Given the description of an element on the screen output the (x, y) to click on. 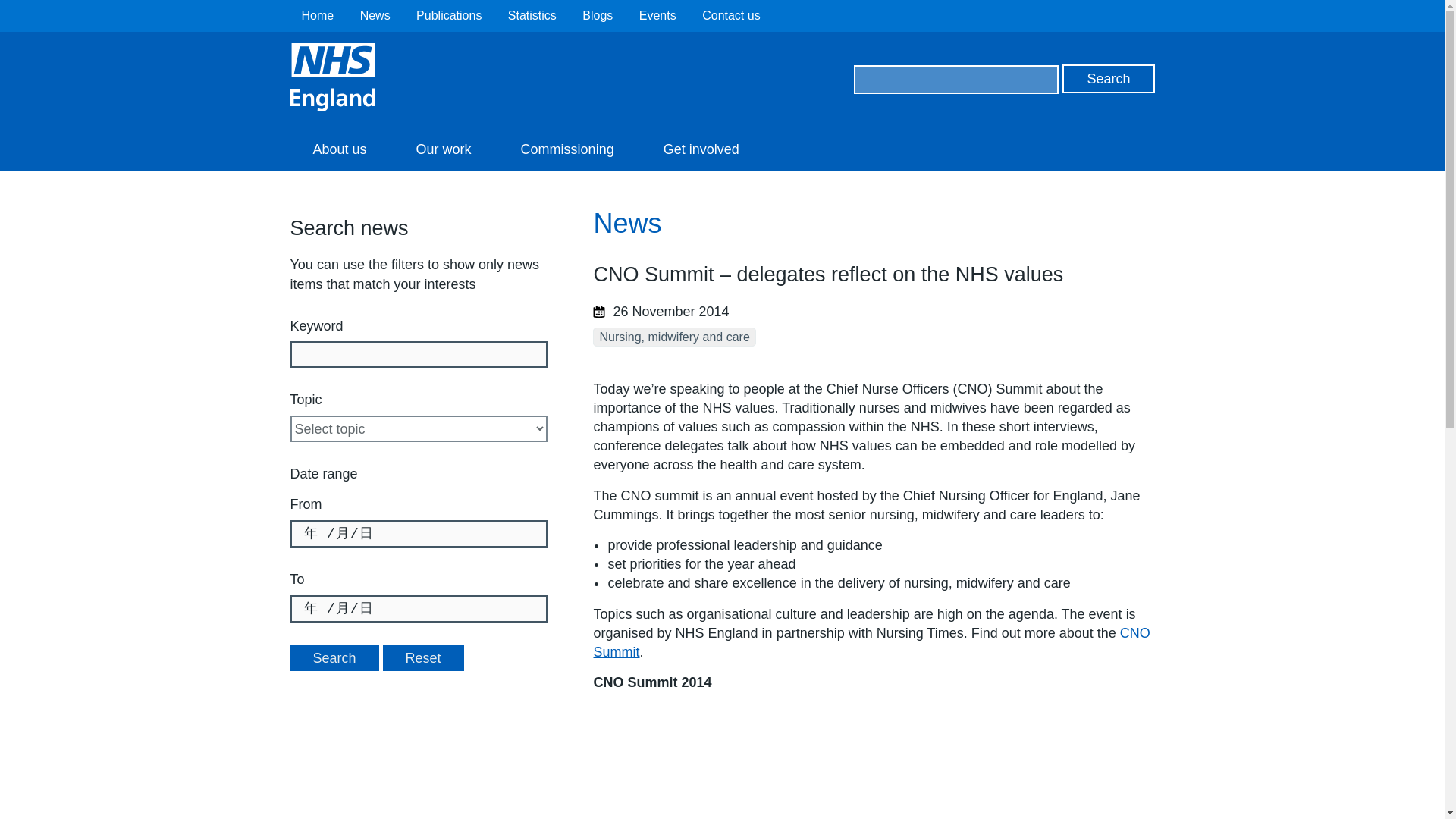
Reset (423, 657)
Publications (448, 15)
Get involved (700, 149)
Our work (444, 149)
Home (317, 15)
Nursing, midwifery and care (673, 336)
Publications (448, 15)
Events (658, 15)
Blogs (597, 15)
Search (333, 657)
